Given the description of an element on the screen output the (x, y) to click on. 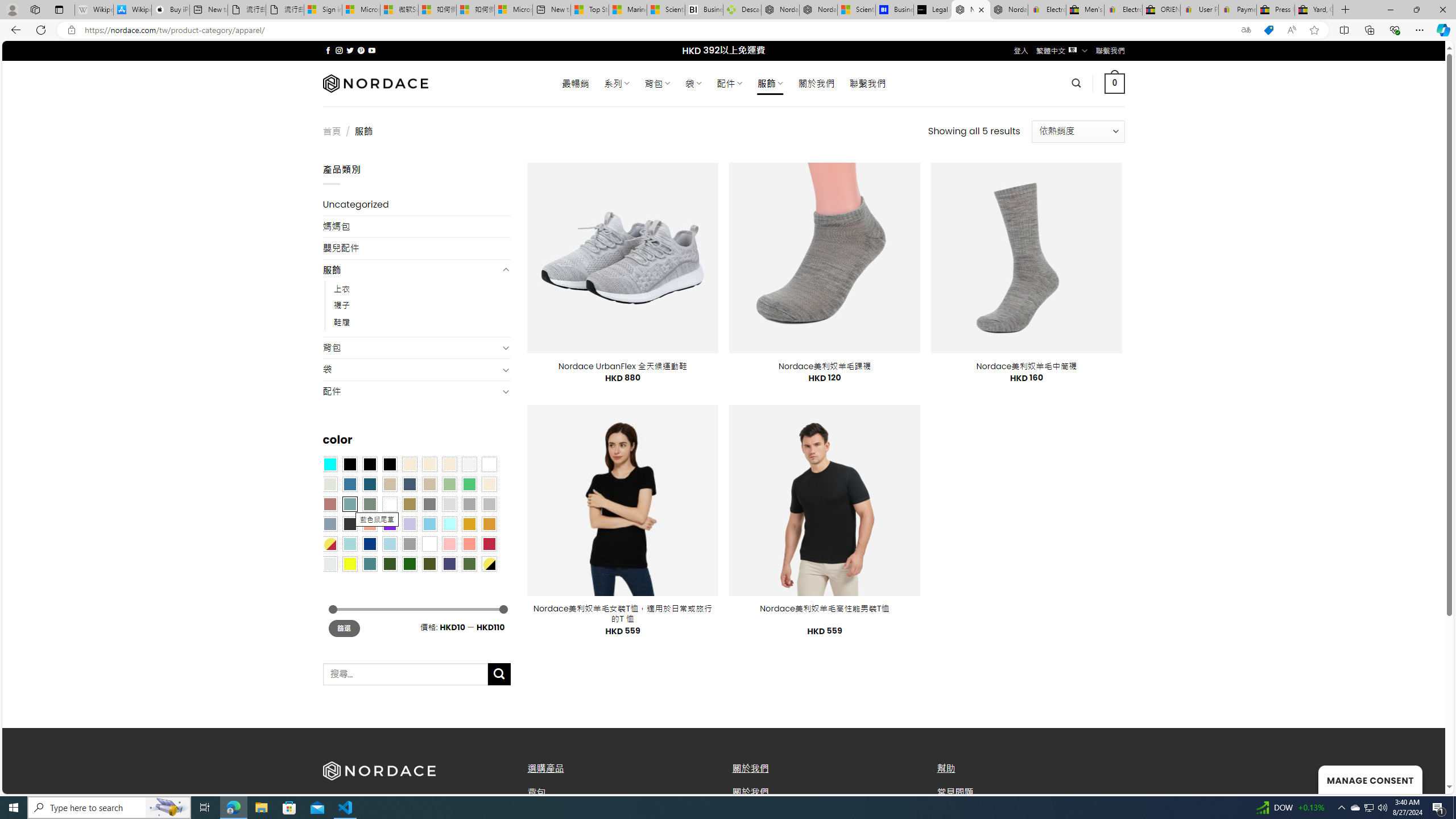
Sign in to your Microsoft account (322, 9)
Top Stories - MSN (589, 9)
Electronics, Cars, Fashion, Collectibles & More | eBay (1123, 9)
Microsoft Services Agreement (360, 9)
